Given the description of an element on the screen output the (x, y) to click on. 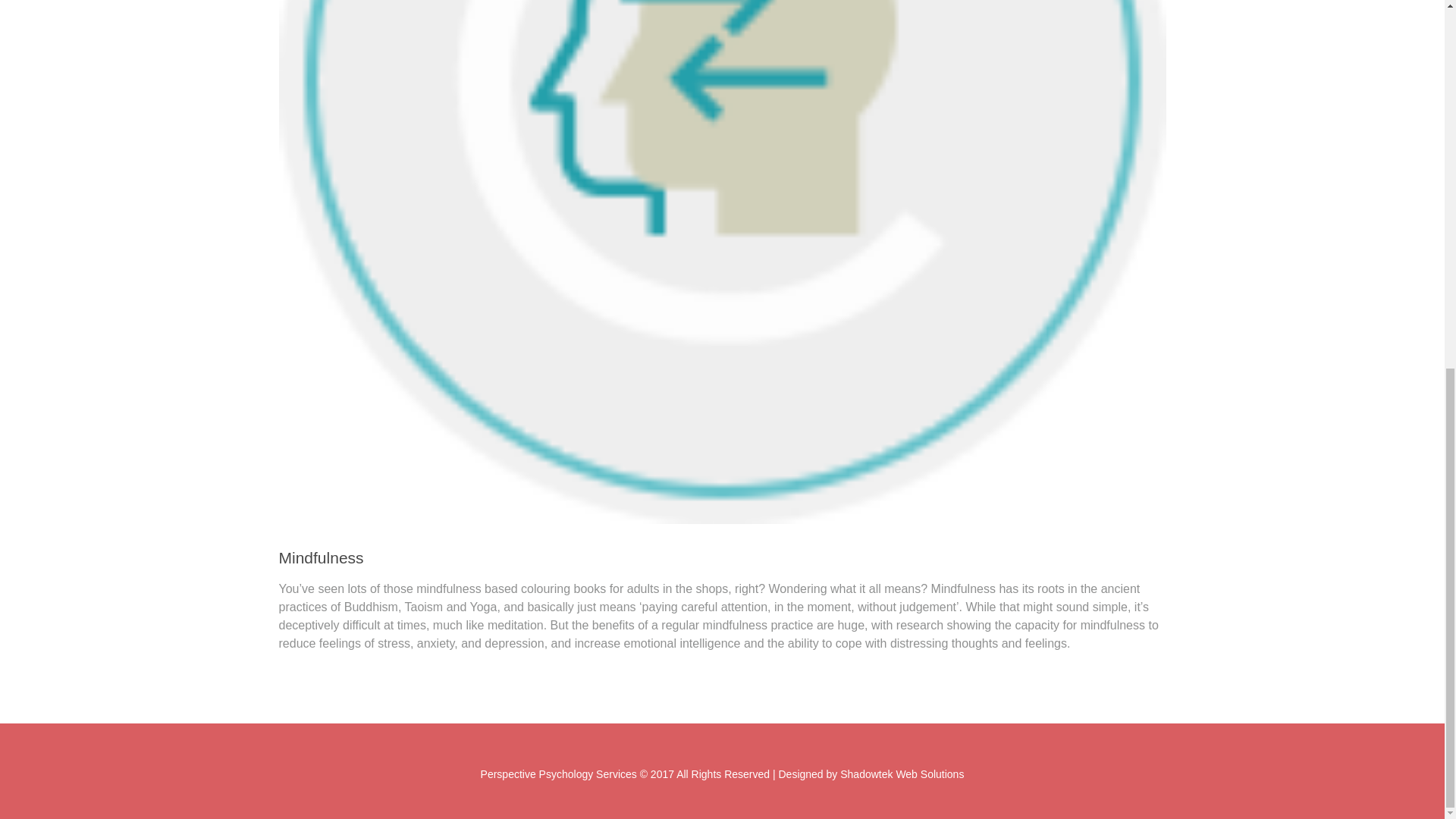
Shadowtek Web Solutions (901, 774)
